Given the description of an element on the screen output the (x, y) to click on. 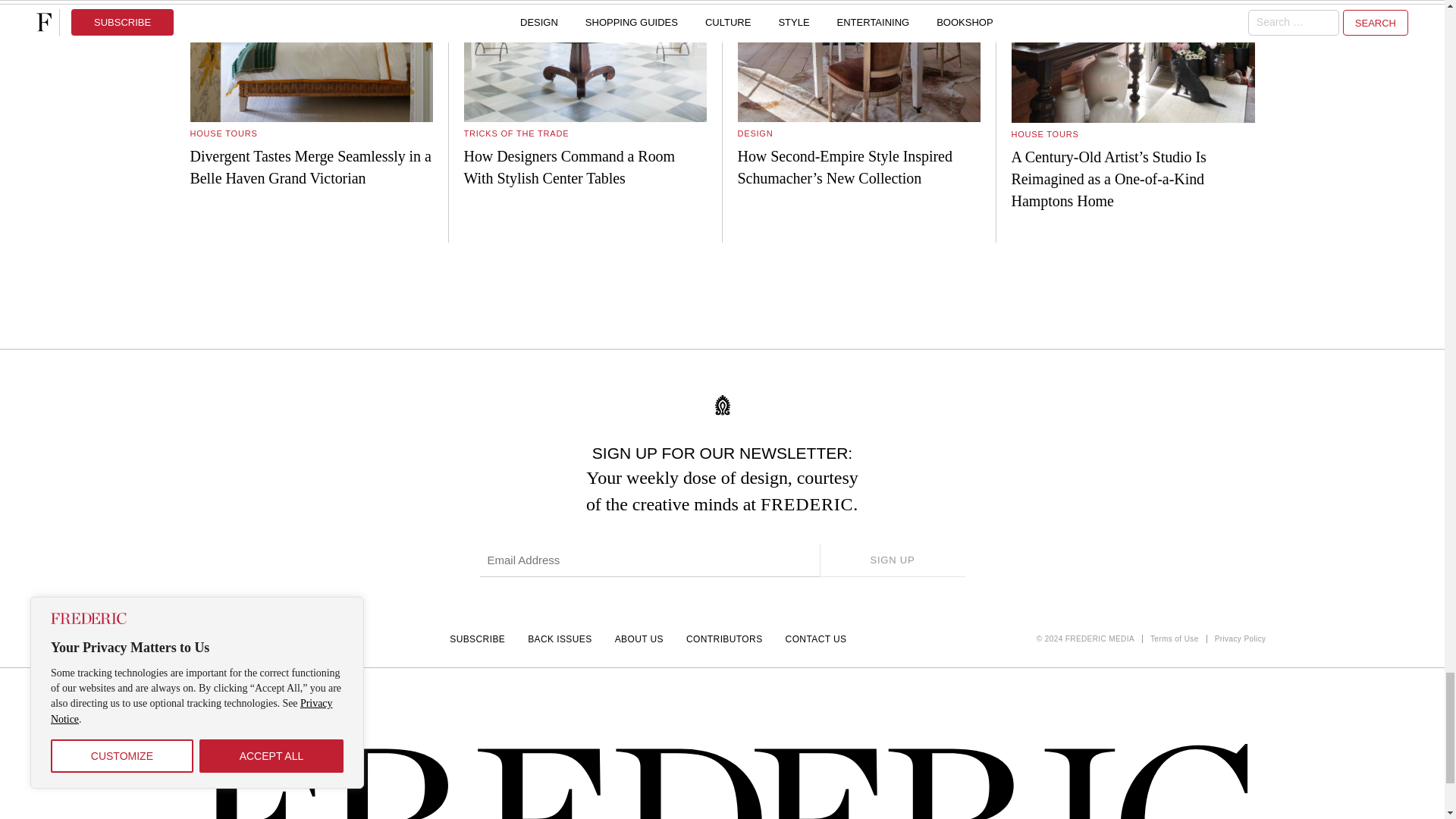
How Designers Command a Room With Stylish Center Tables (585, 94)
